Given the description of an element on the screen output the (x, y) to click on. 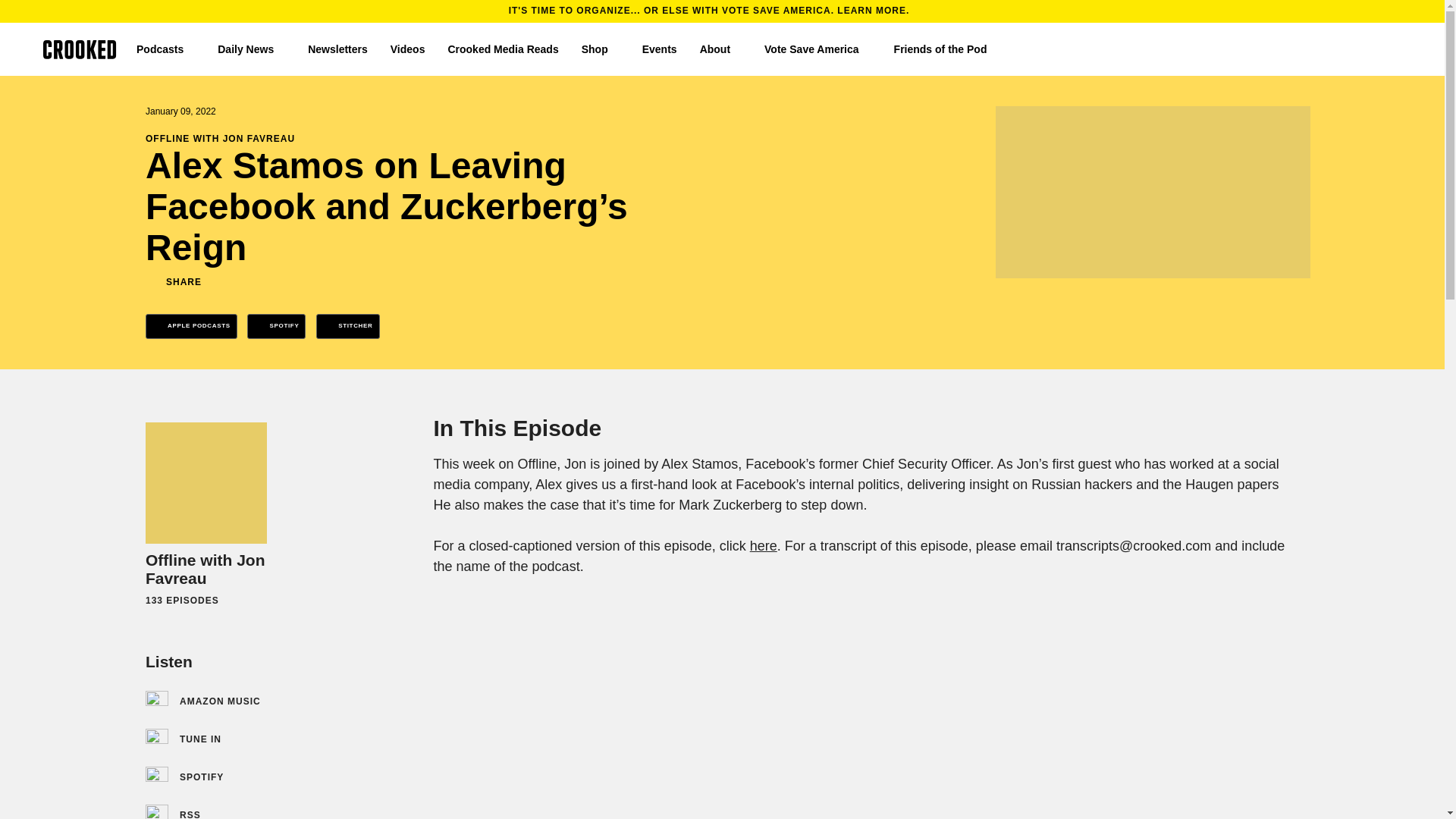
Vote Save America (817, 48)
Podcasts (165, 48)
Shop (600, 48)
Videos (407, 48)
Daily News (250, 48)
Crooked Media Reads (501, 48)
Newsletters (337, 48)
About (720, 48)
Friends of the Pod (945, 48)
Events (659, 48)
